Given the description of an element on the screen output the (x, y) to click on. 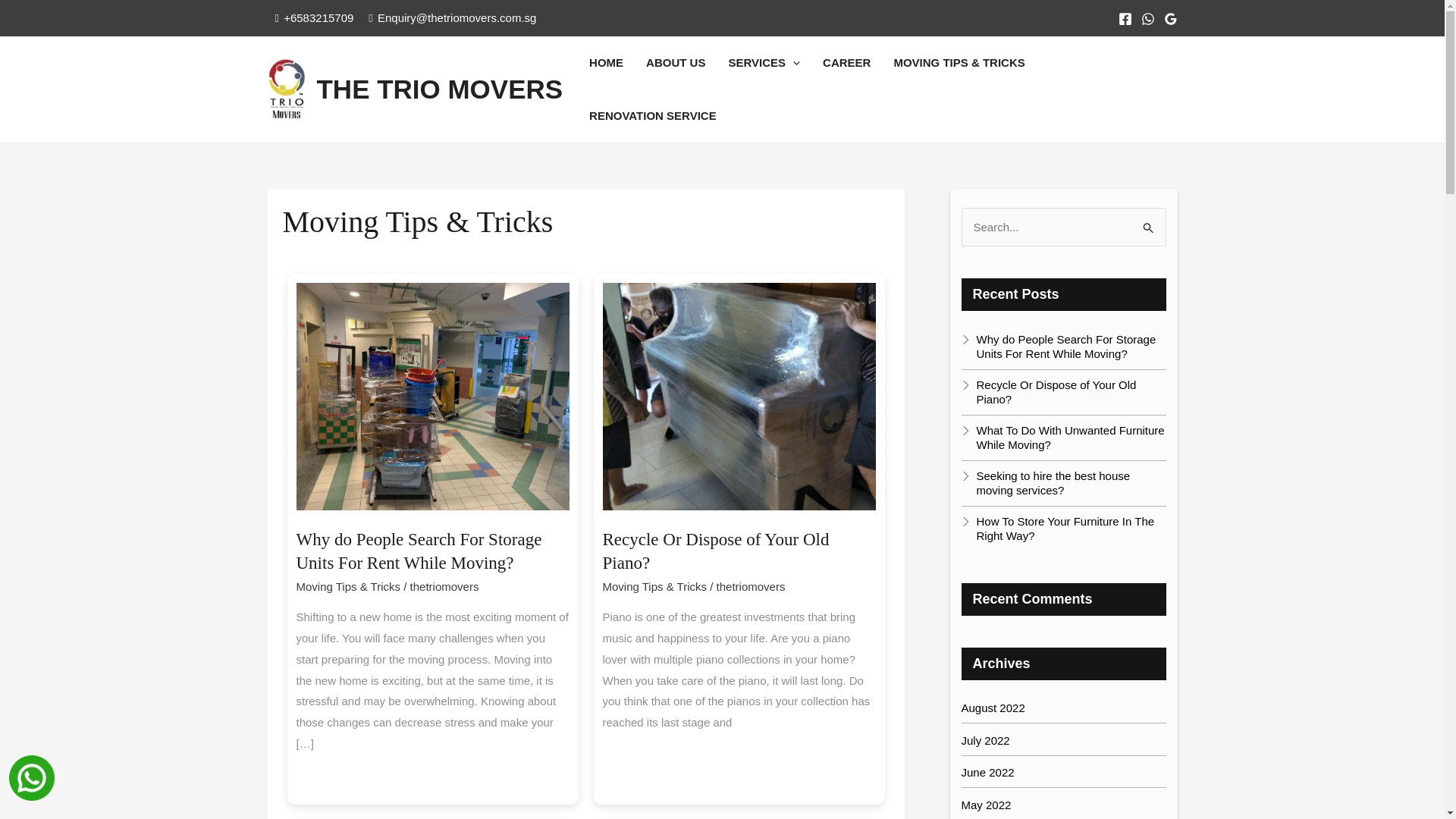
RENOVATION SERVICE (653, 115)
THE TRIO MOVERS (440, 89)
Search (1148, 223)
HOME (606, 62)
Recycle Or Dispose of Your Old Piano? 4 (738, 396)
View all posts by thetriomovers (444, 585)
Search (1148, 223)
CAREER (846, 62)
ABOUT US (675, 62)
View all posts by thetriomovers (751, 585)
